Given the description of an element on the screen output the (x, y) to click on. 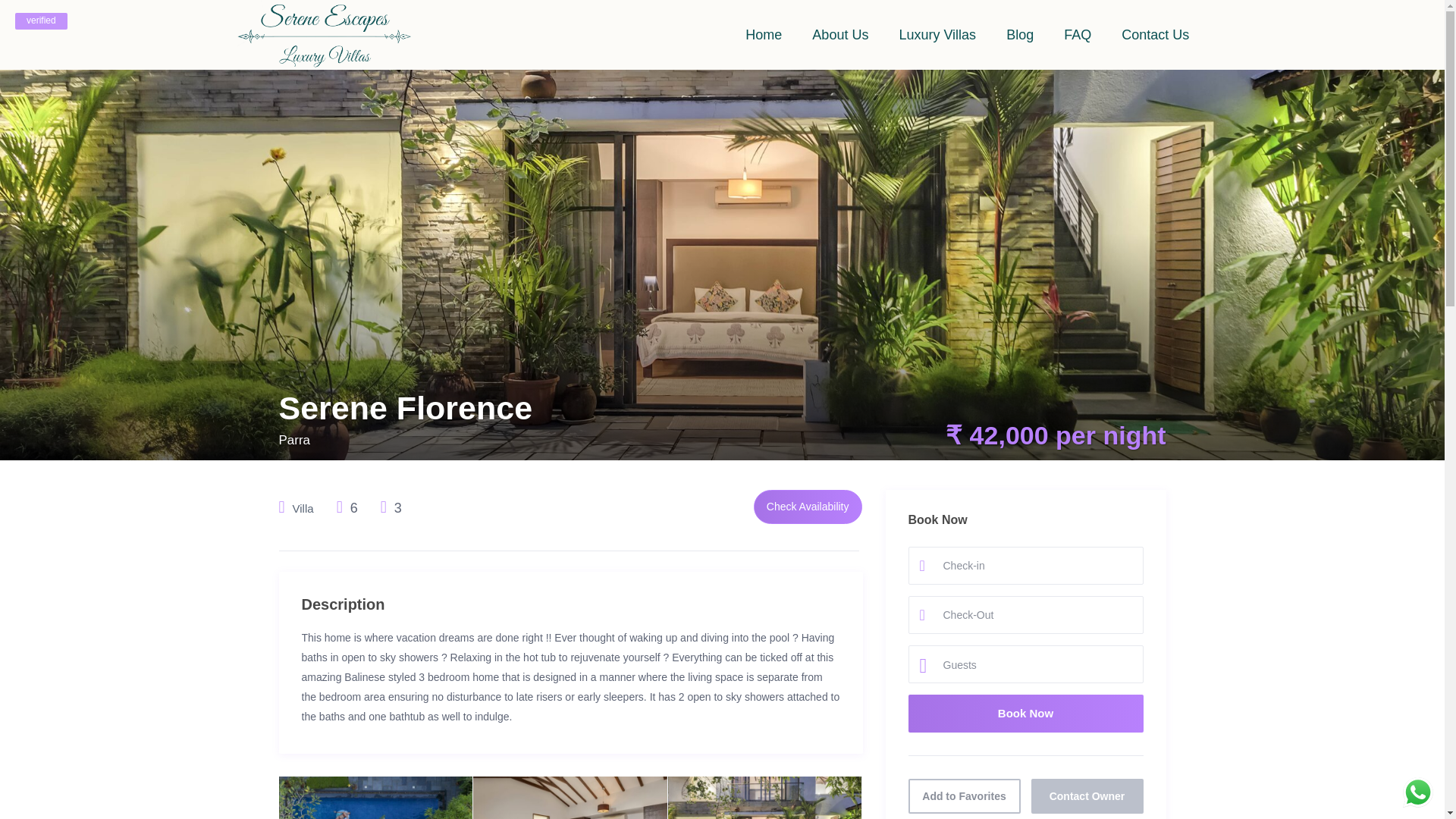
FAQ (1077, 34)
About Us (839, 34)
Luxury Villas (937, 34)
Parra (295, 440)
Home (763, 34)
Blog (1019, 34)
Book Now (1025, 713)
Contact Us (1155, 34)
